Given the description of an element on the screen output the (x, y) to click on. 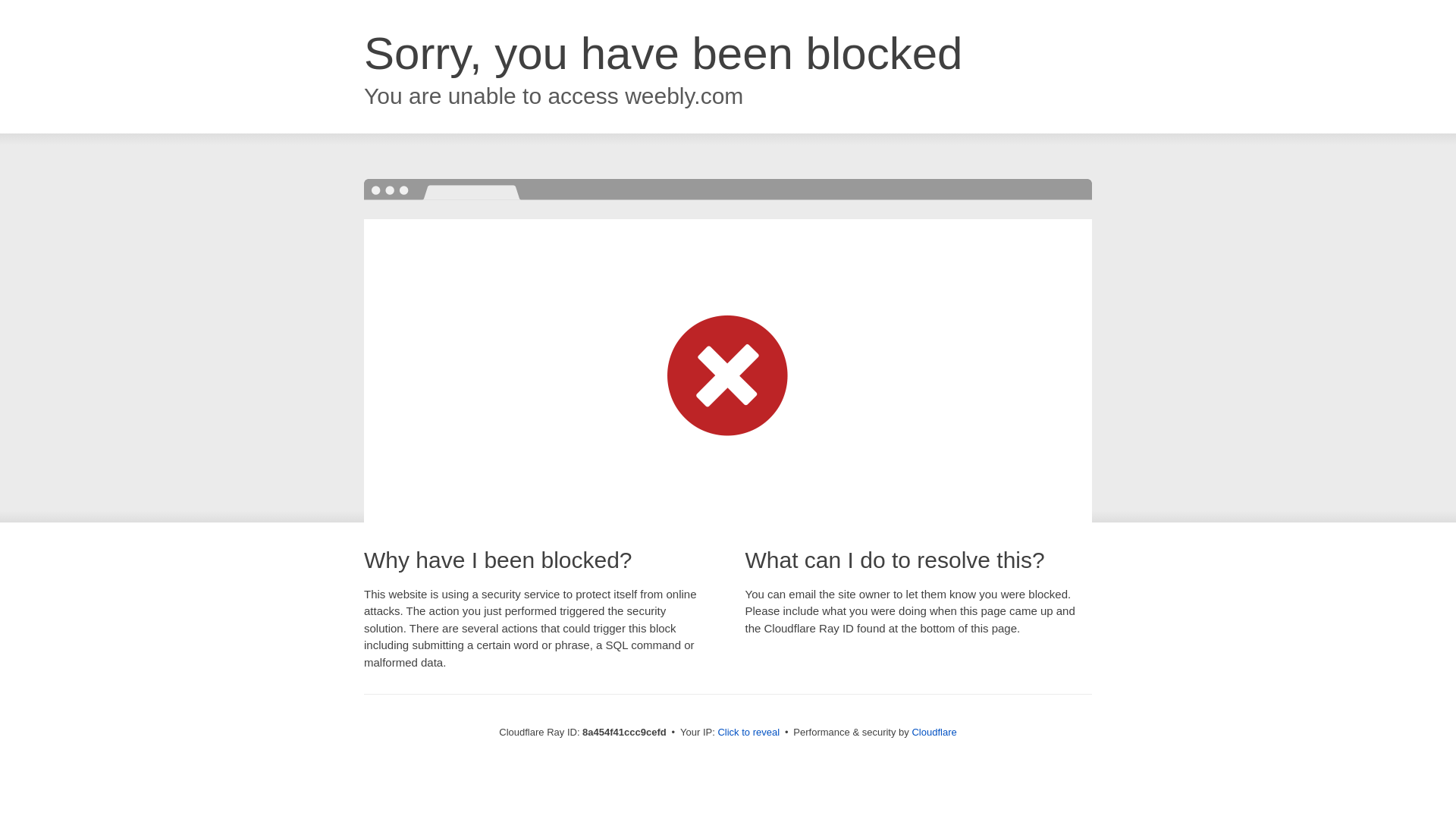
Click to reveal (747, 732)
Cloudflare (933, 731)
